Given the description of an element on the screen output the (x, y) to click on. 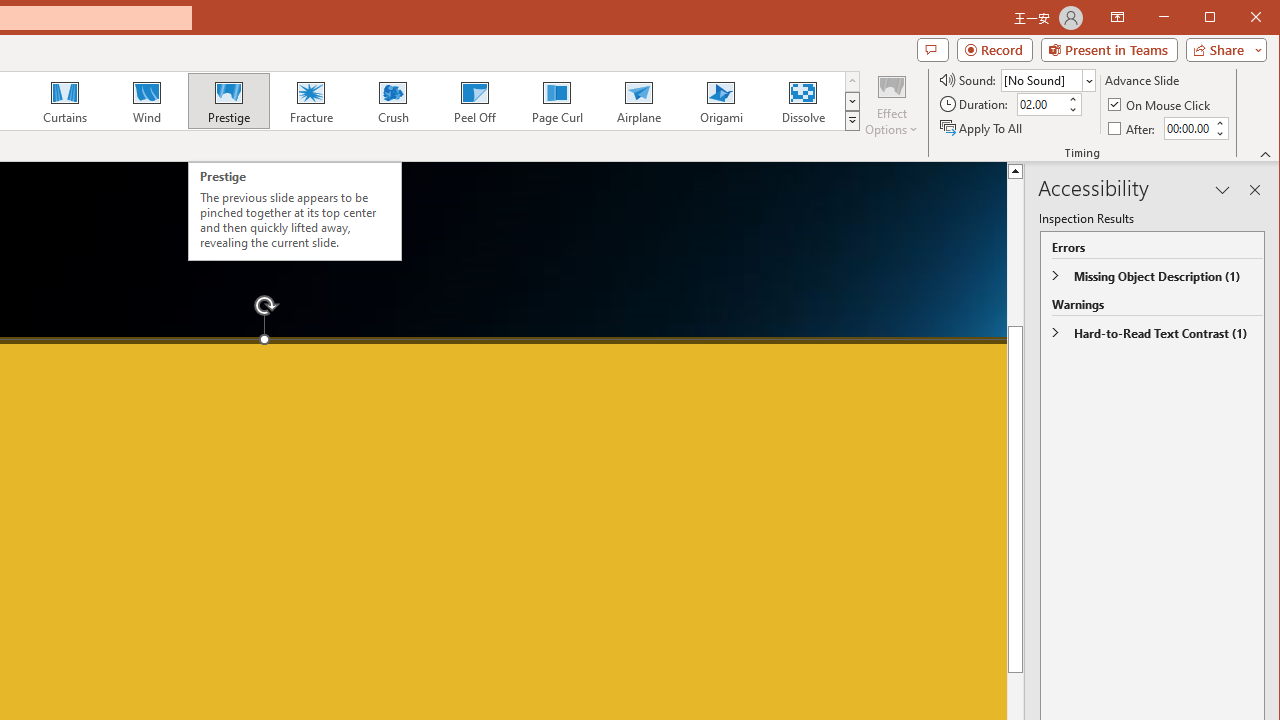
Fracture (311, 100)
Sound (1047, 80)
